Given the description of an element on the screen output the (x, y) to click on. 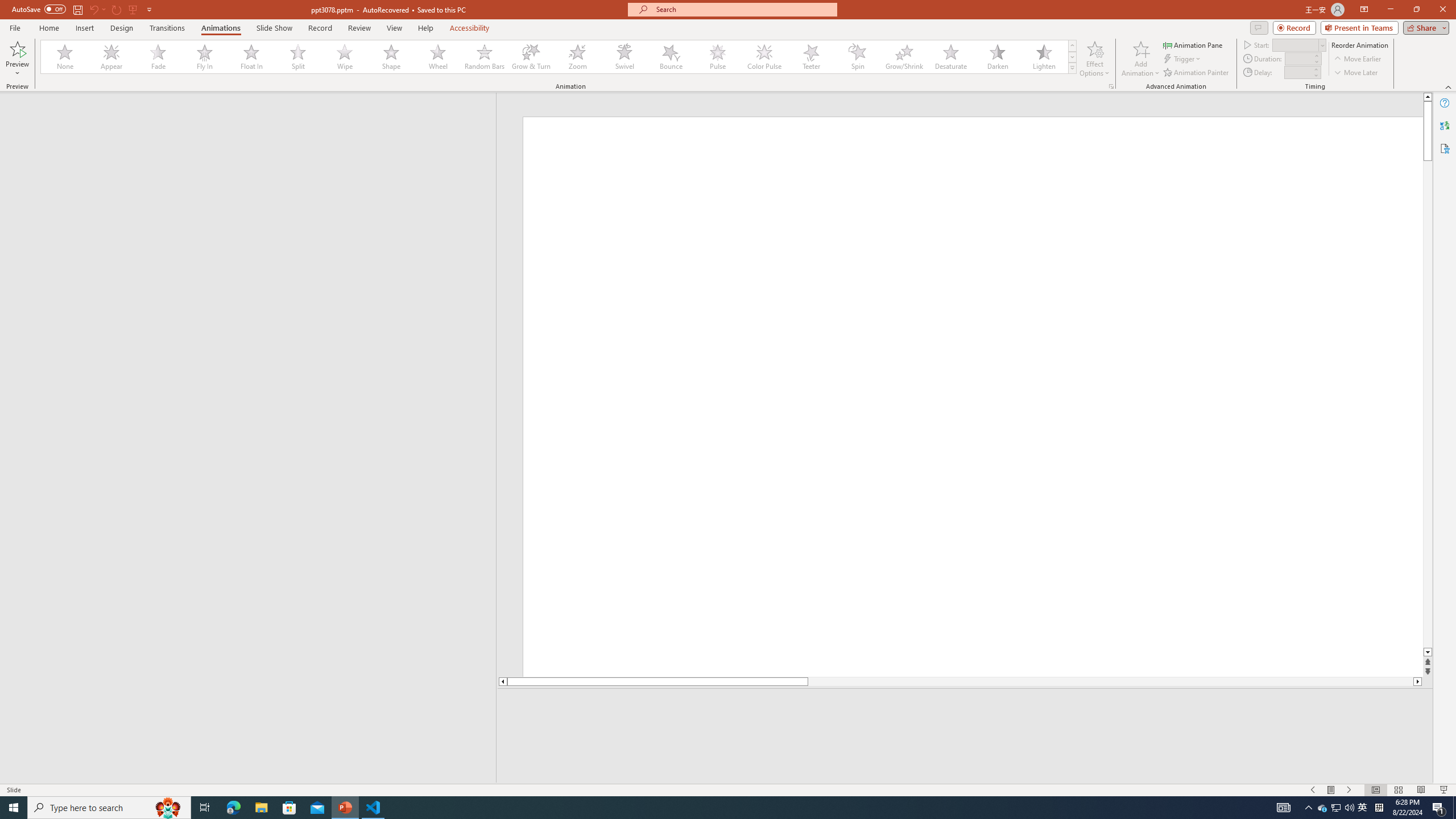
Grow & Turn (531, 56)
Swivel (624, 56)
Appear (111, 56)
None (65, 56)
Bounce (670, 56)
Color Pulse (764, 56)
